Given the description of an element on the screen output the (x, y) to click on. 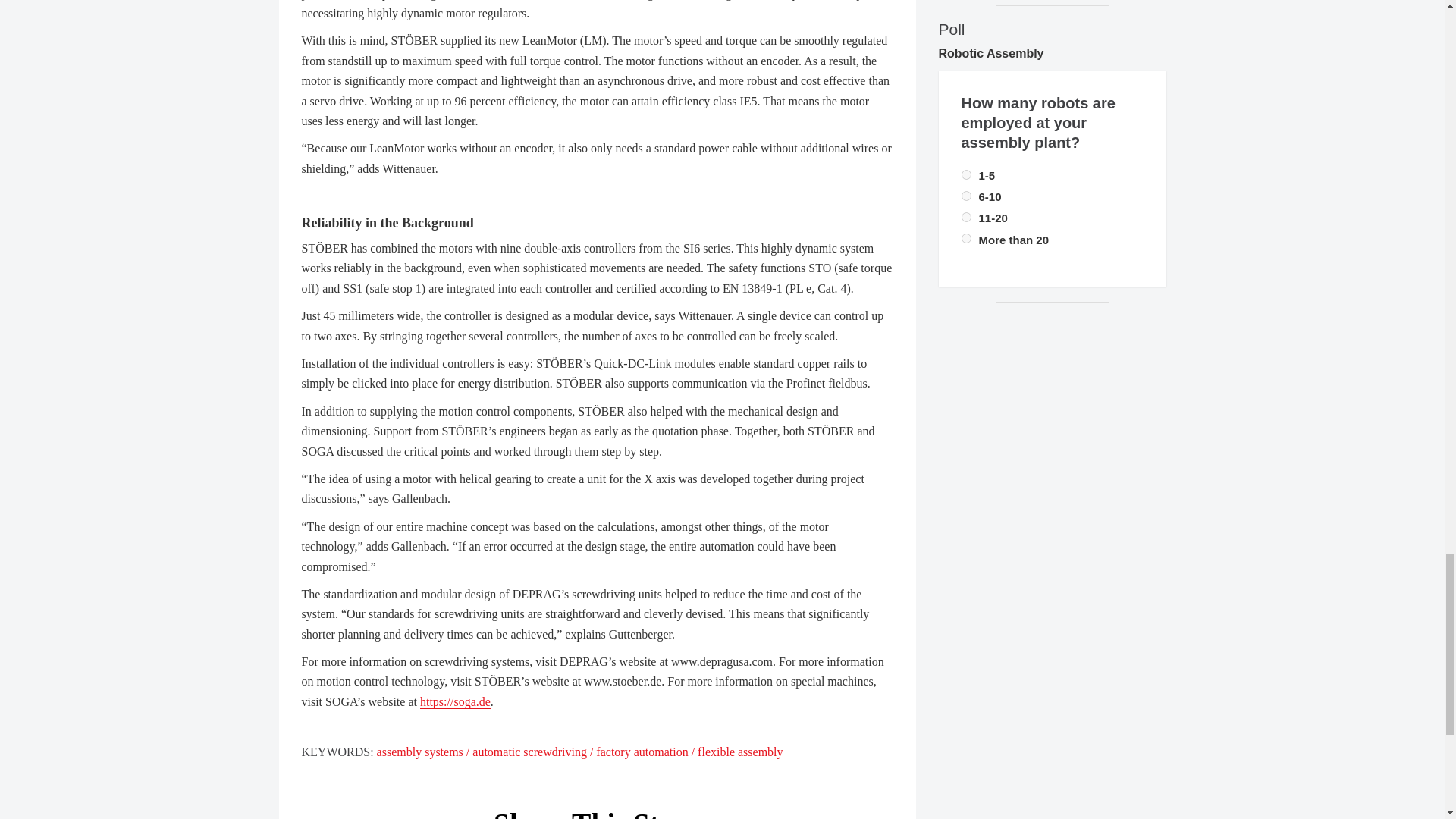
385 (965, 174)
383 (965, 216)
384 (965, 195)
386 (965, 238)
